Given the description of an element on the screen output the (x, y) to click on. 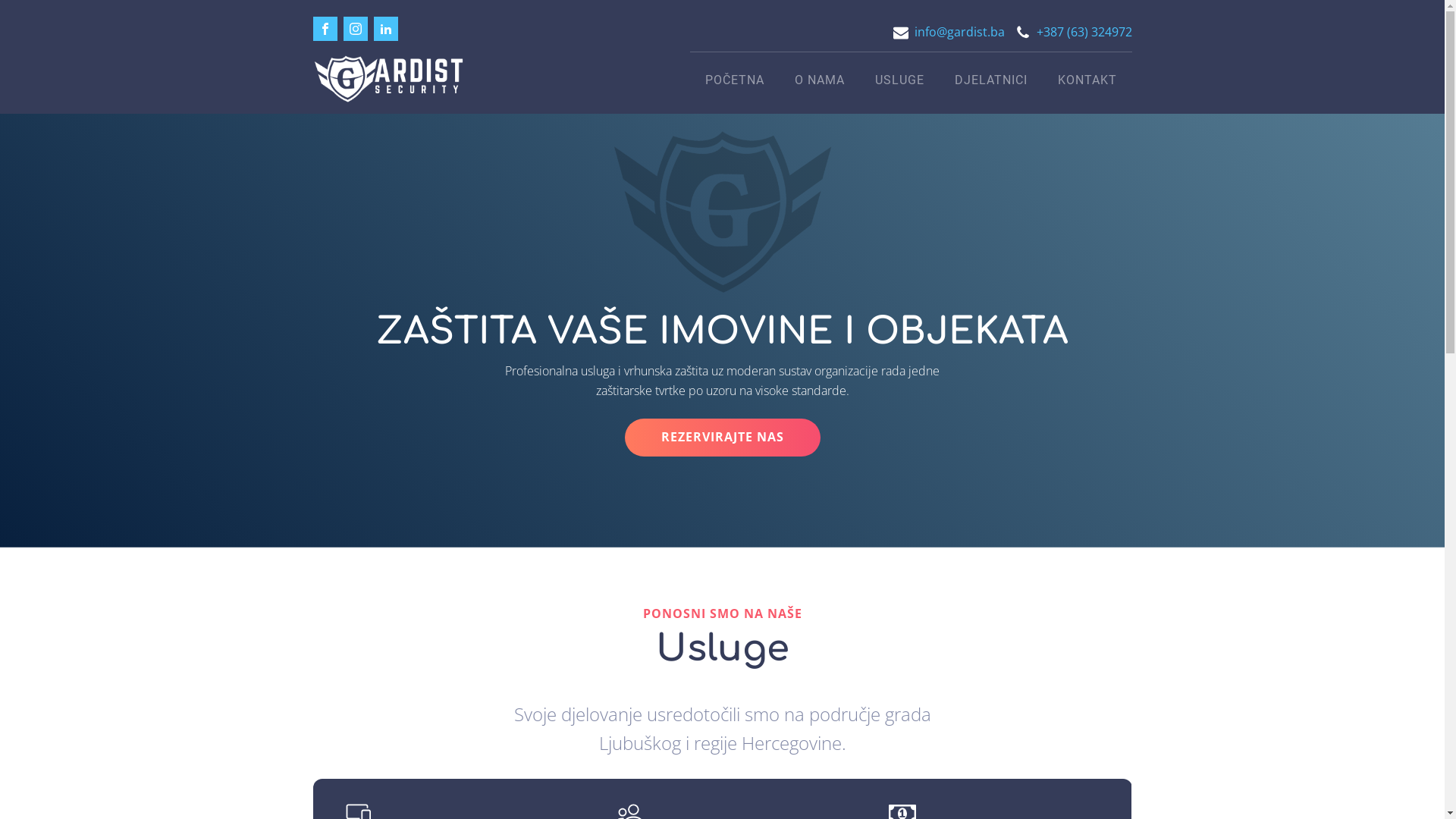
USLUGE Element type: text (899, 80)
+387 (63) 324972 Element type: text (1083, 32)
info@gardist.ba Element type: text (959, 32)
O NAMA Element type: text (819, 80)
DJELATNICI Element type: text (989, 80)
REZERVIRAJTE NAS Element type: text (722, 437)
KONTAKT Element type: text (1086, 80)
